Given the description of an element on the screen output the (x, y) to click on. 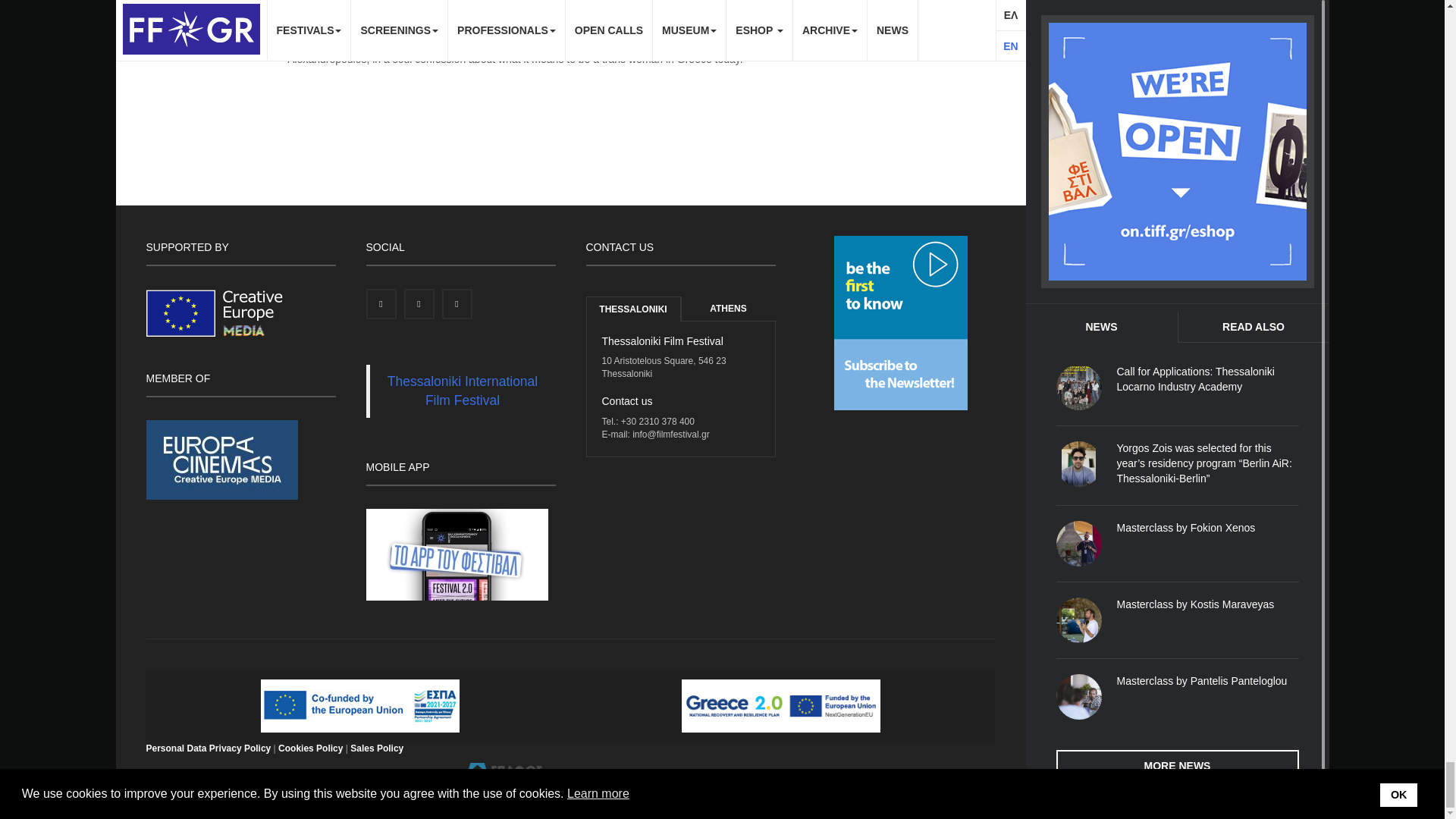
Visit EPAFOS IT Systems! (503, 773)
Thessaloniki (632, 309)
Subscribe to the Newsletter (901, 321)
Athens (728, 308)
